Given the description of an element on the screen output the (x, y) to click on. 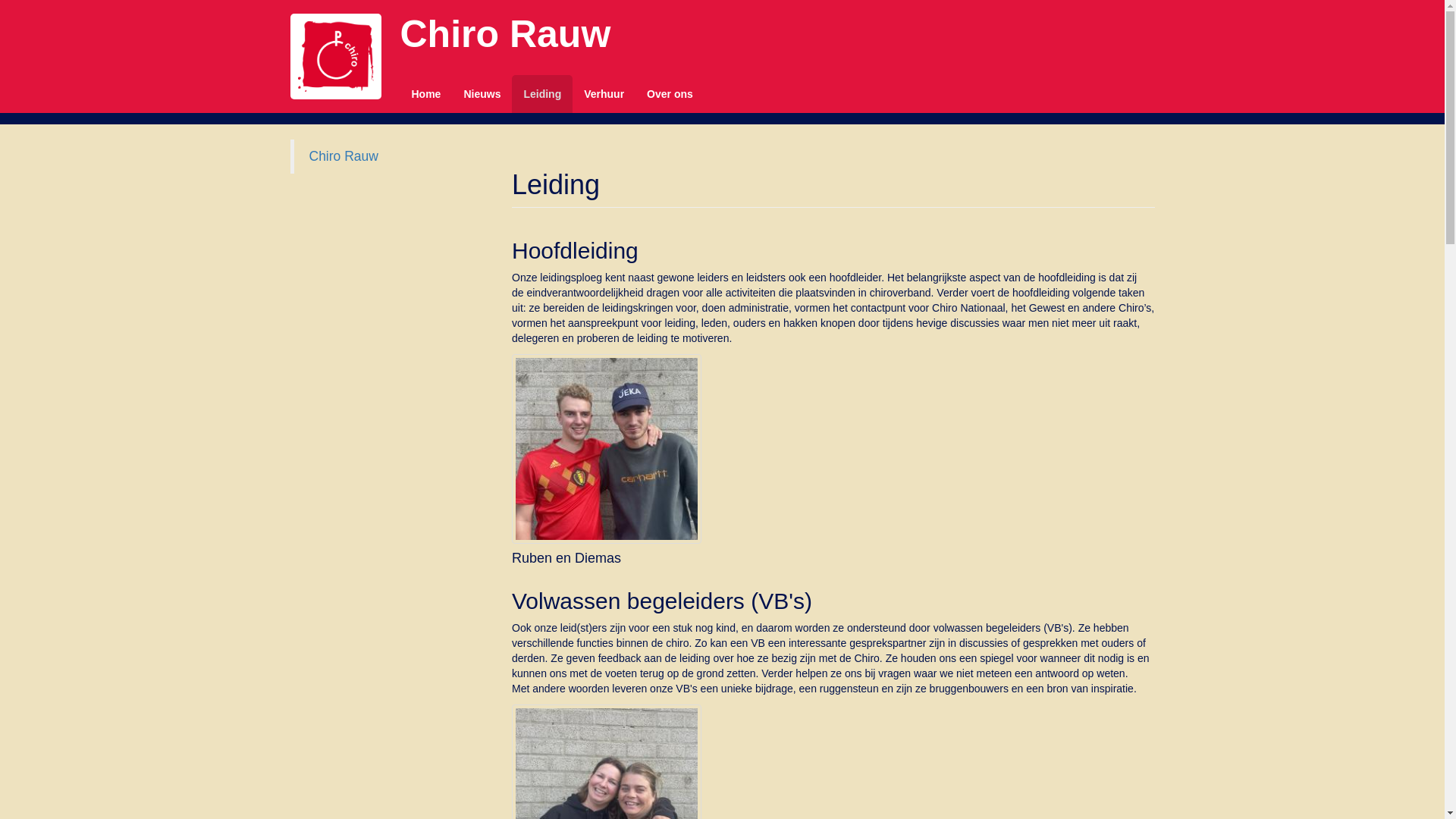
Chiro Rauw Element type: text (504, 34)
Leiding Element type: text (541, 93)
Nieuws Element type: text (481, 93)
Verhuur Element type: text (603, 93)
Home Element type: text (426, 93)
Overslaan en naar de inhoud gaan Element type: text (81, 0)
Home Element type: hover (334, 56)
Chiro Rauw Element type: text (343, 155)
Over ons Element type: text (669, 93)
